Given the description of an element on the screen output the (x, y) to click on. 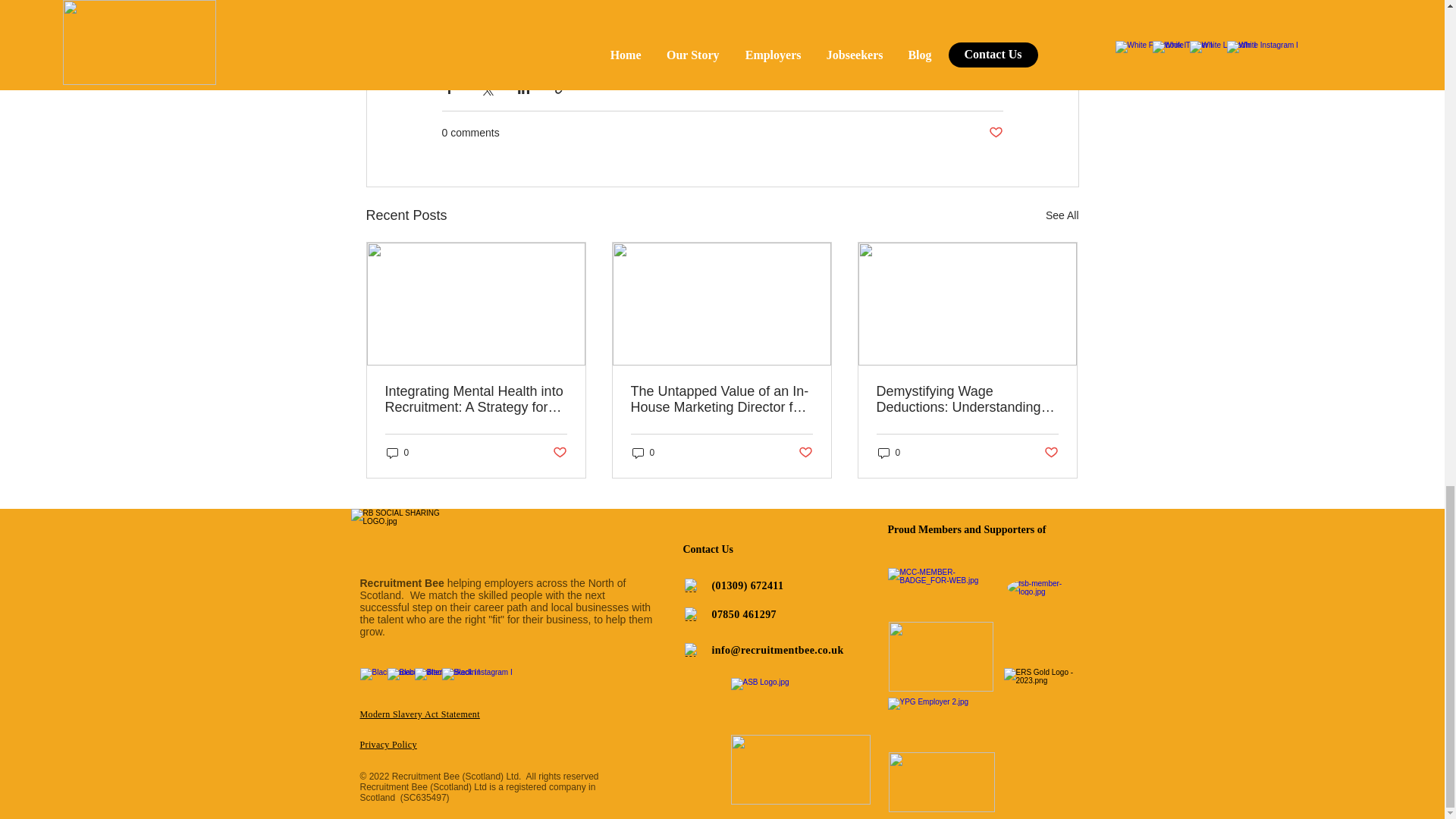
Post not marked as liked (804, 453)
Post not marked as liked (558, 453)
See All (1061, 215)
Member Email Signature Badge.jpg (940, 656)
Post not marked as liked (995, 132)
0 (643, 452)
Finalist.jpg (800, 769)
0 (397, 452)
